Given the description of an element on the screen output the (x, y) to click on. 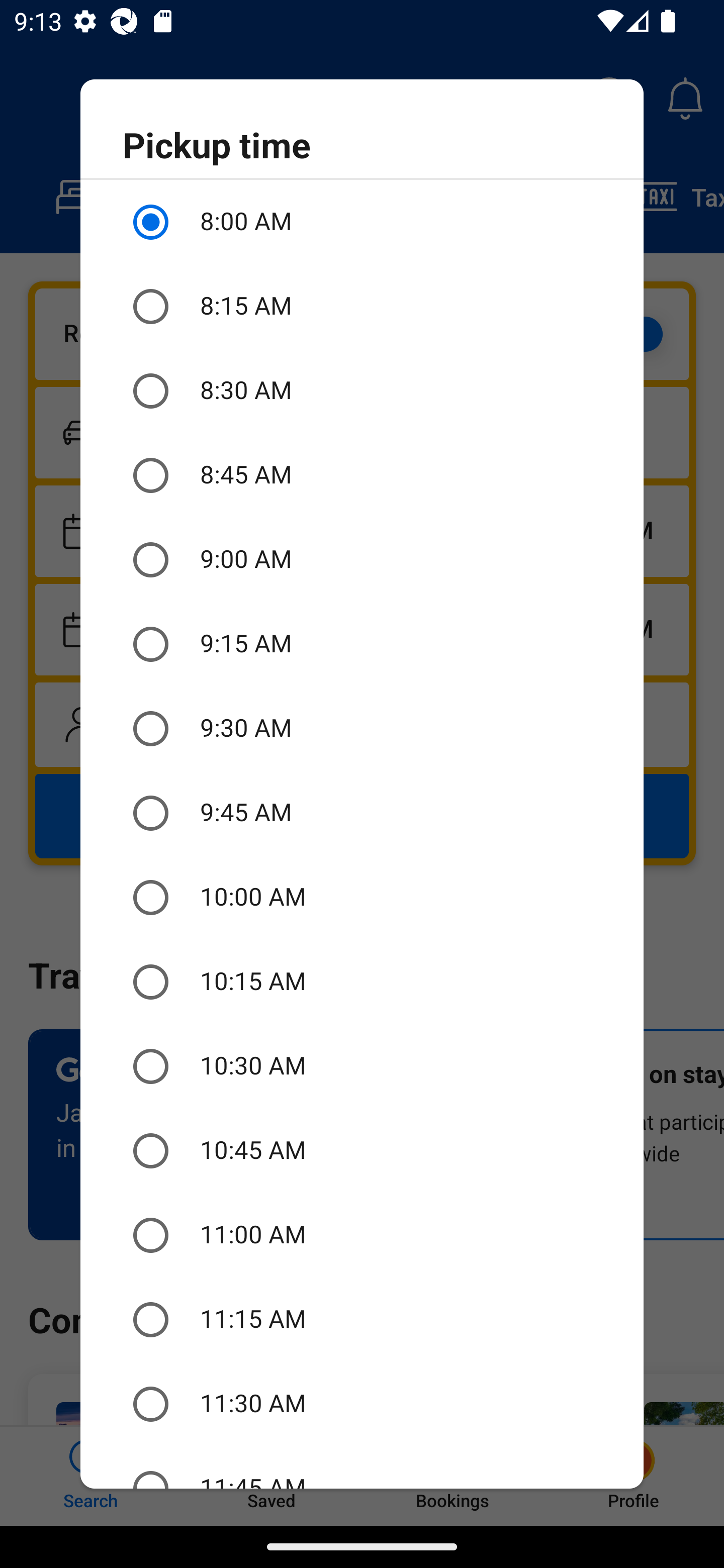
8:00 AM (361, 222)
8:15 AM (361, 306)
8:30 AM (361, 390)
8:45 AM (361, 474)
9:00 AM (361, 559)
9:15 AM (361, 644)
9:30 AM (361, 728)
9:45 AM (361, 813)
10:00 AM (361, 897)
10:15 AM (361, 981)
10:30 AM (361, 1065)
10:45 AM (361, 1150)
11:00 AM (361, 1235)
11:15 AM (361, 1319)
11:30 AM (361, 1403)
